Given the description of an element on the screen output the (x, y) to click on. 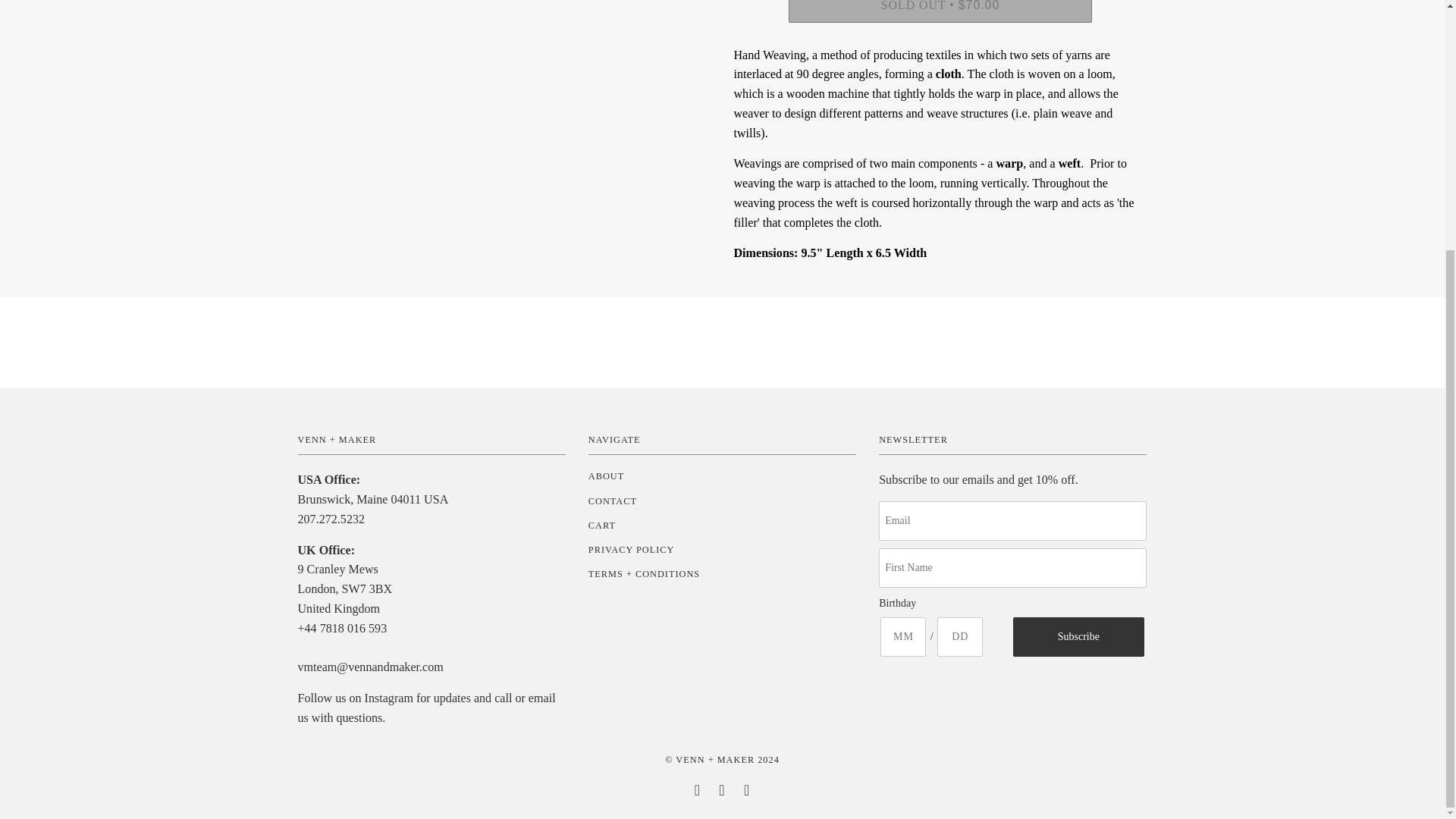
Subscribe (1078, 636)
